Given the description of an element on the screen output the (x, y) to click on. 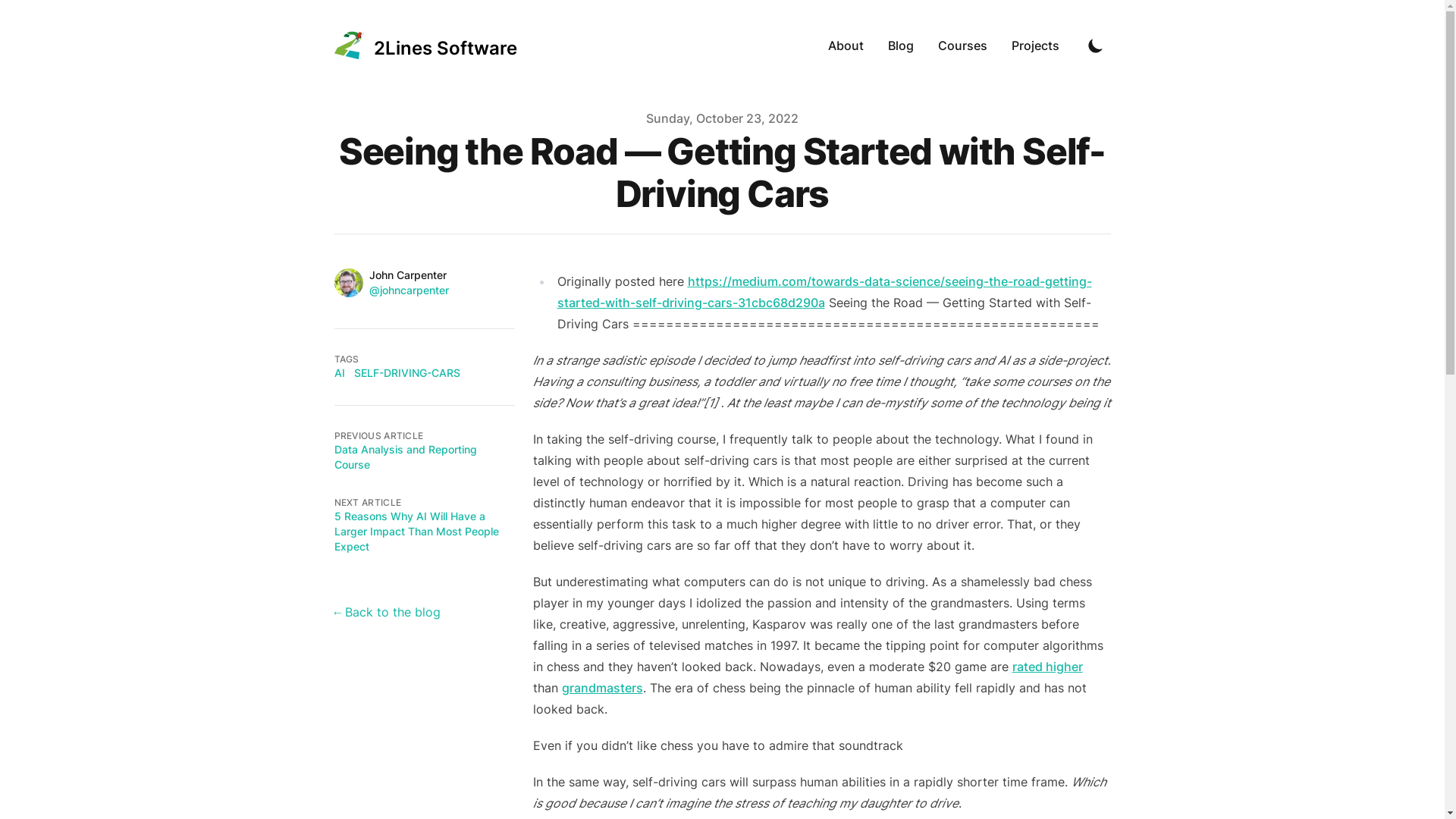
Blog Element type: text (900, 45)
Courses Element type: text (961, 45)
@johncarpenter Element type: text (408, 289)
SELF-DRIVING-CARS Element type: text (406, 372)
AI Element type: text (338, 372)
2Lines Software Element type: text (424, 45)
grandmasters Element type: text (601, 687)
Projects Element type: text (1035, 45)
rated higher Element type: text (1046, 666)
Data Analysis and Reporting Course Element type: text (404, 456)
About Element type: text (845, 45)
